Given the description of an element on the screen output the (x, y) to click on. 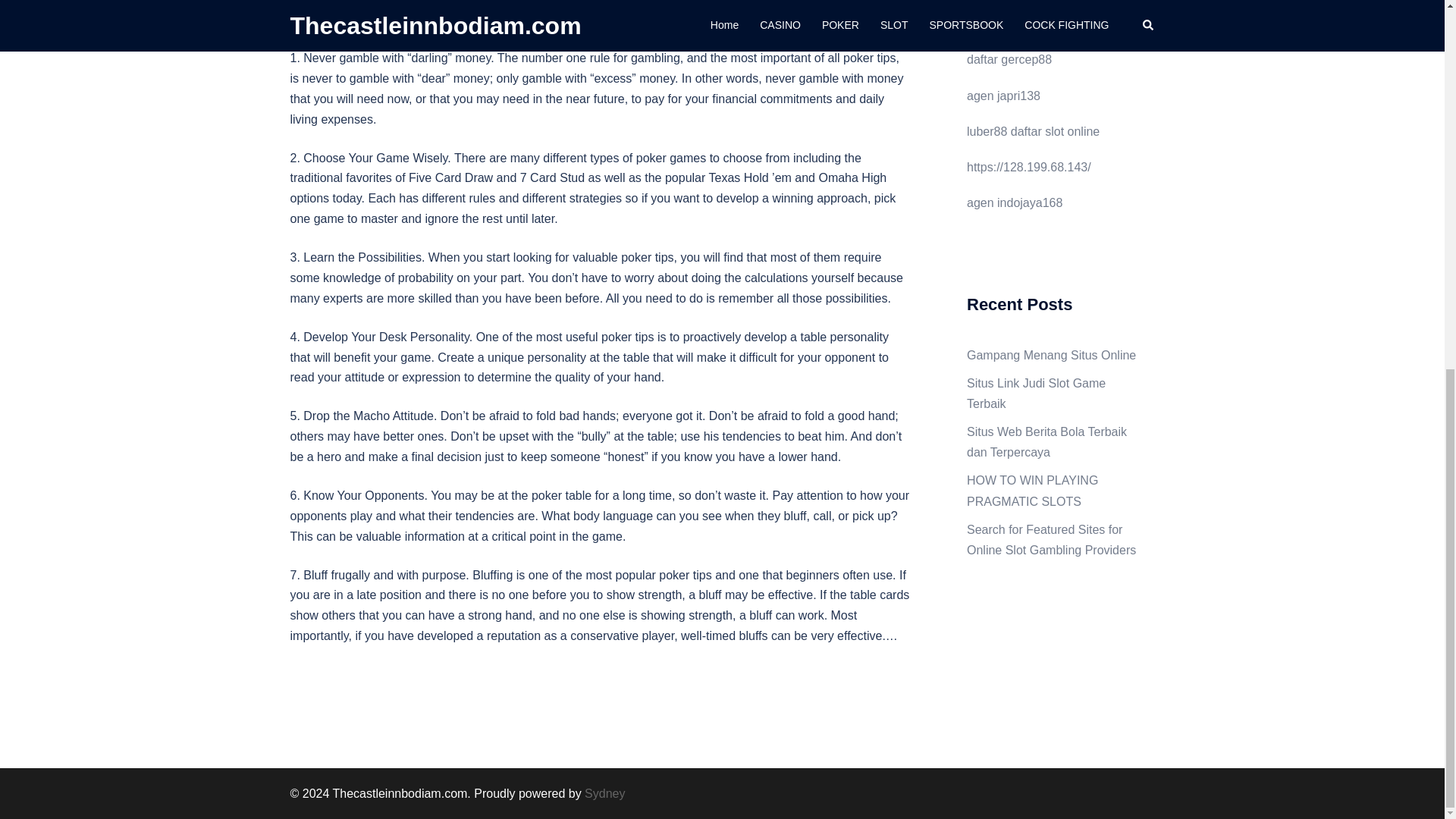
agen878 slot online (1018, 23)
